Given the description of an element on the screen output the (x, y) to click on. 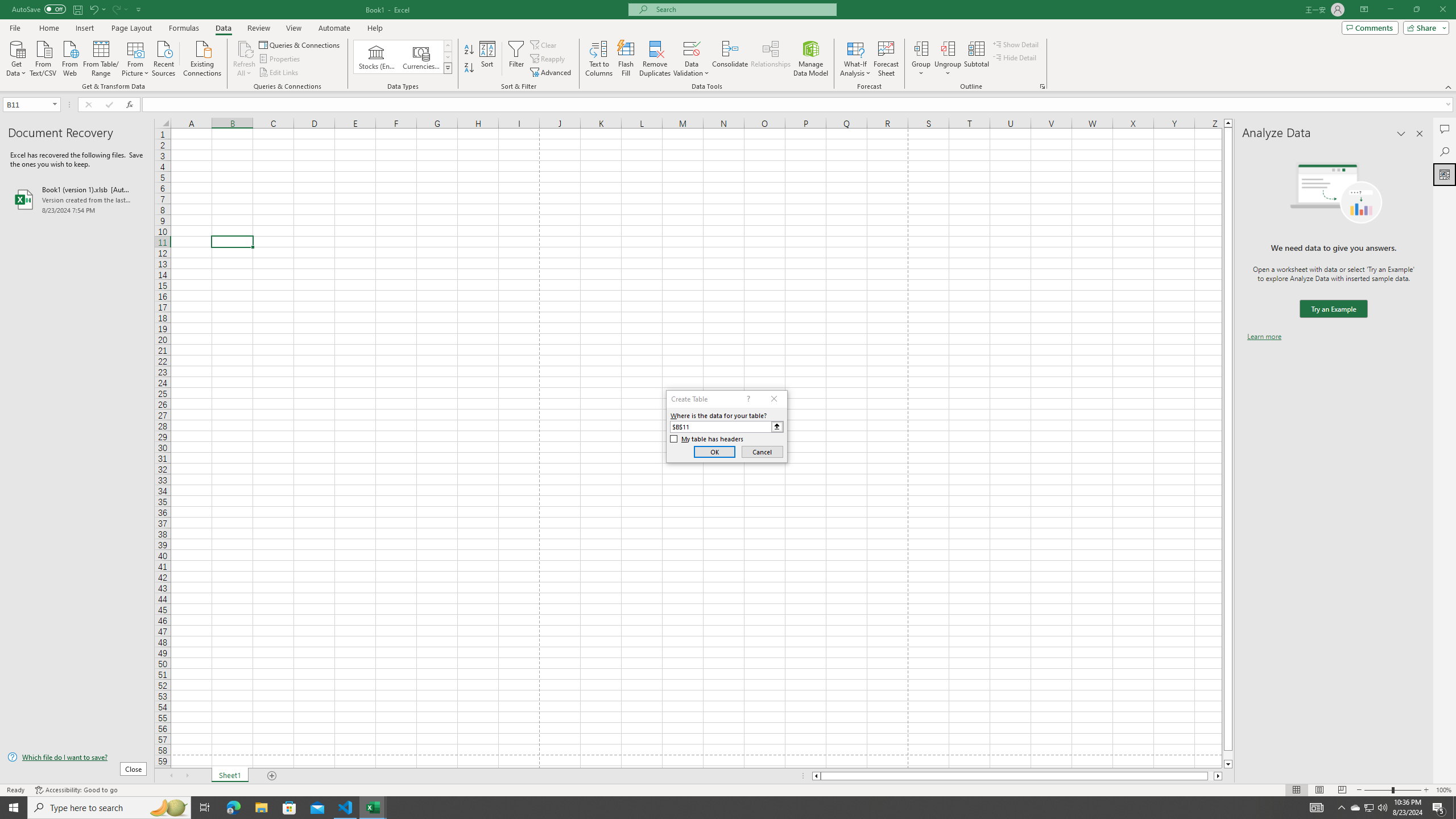
Flash Fill (625, 58)
Data Types (448, 67)
Data Validation... (691, 48)
Recent Sources (163, 57)
Refresh All (244, 58)
Clear (544, 44)
Sort A to Z (469, 49)
Relationships (770, 58)
Class: MsoCommandBar (728, 45)
Row up (448, 45)
AutoSave (38, 9)
